Given the description of an element on the screen output the (x, y) to click on. 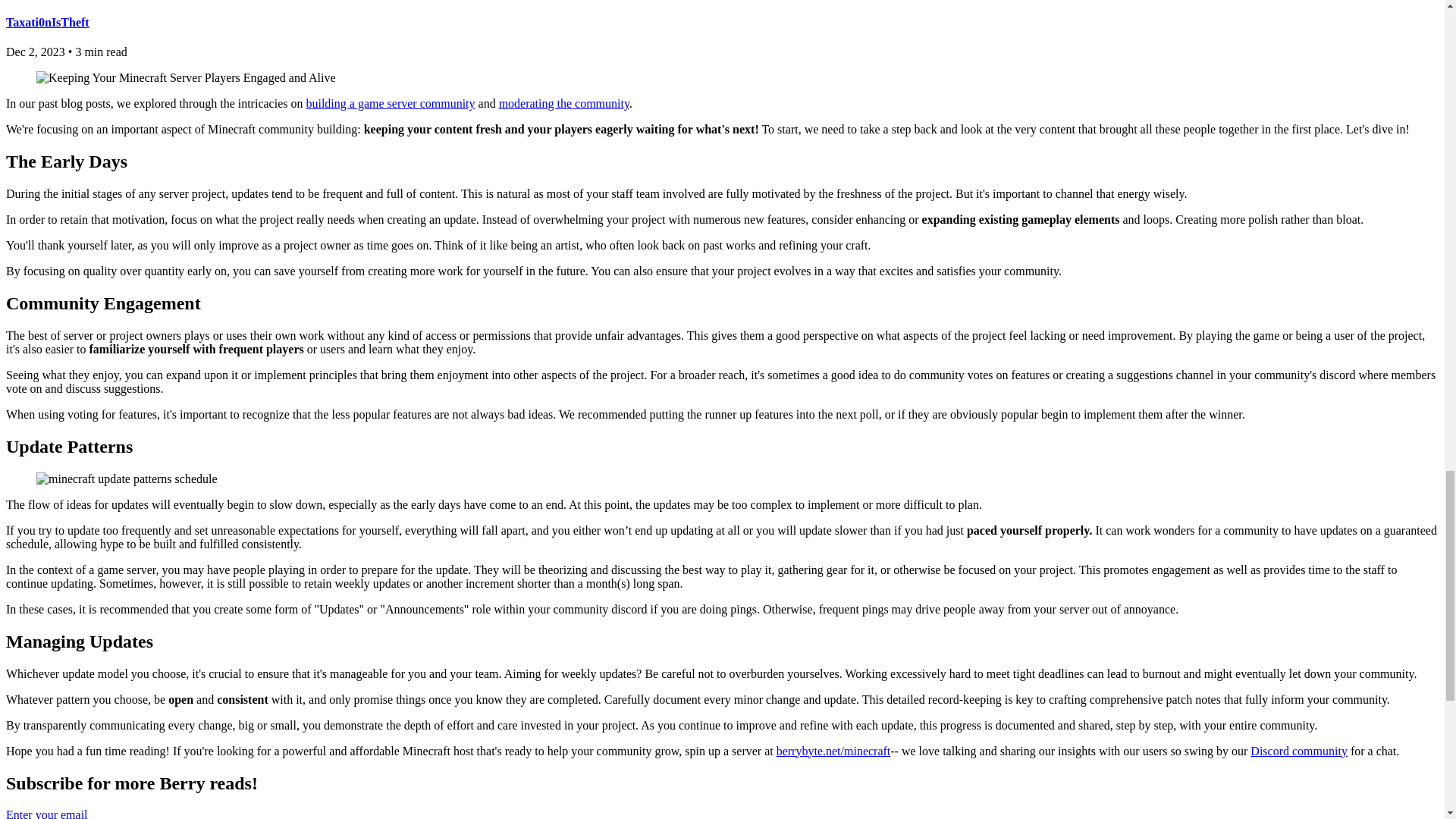
building a game server community (389, 103)
moderating the community (563, 103)
Taxati0nIsTheft (46, 21)
Discord community (1299, 750)
